Given the description of an element on the screen output the (x, y) to click on. 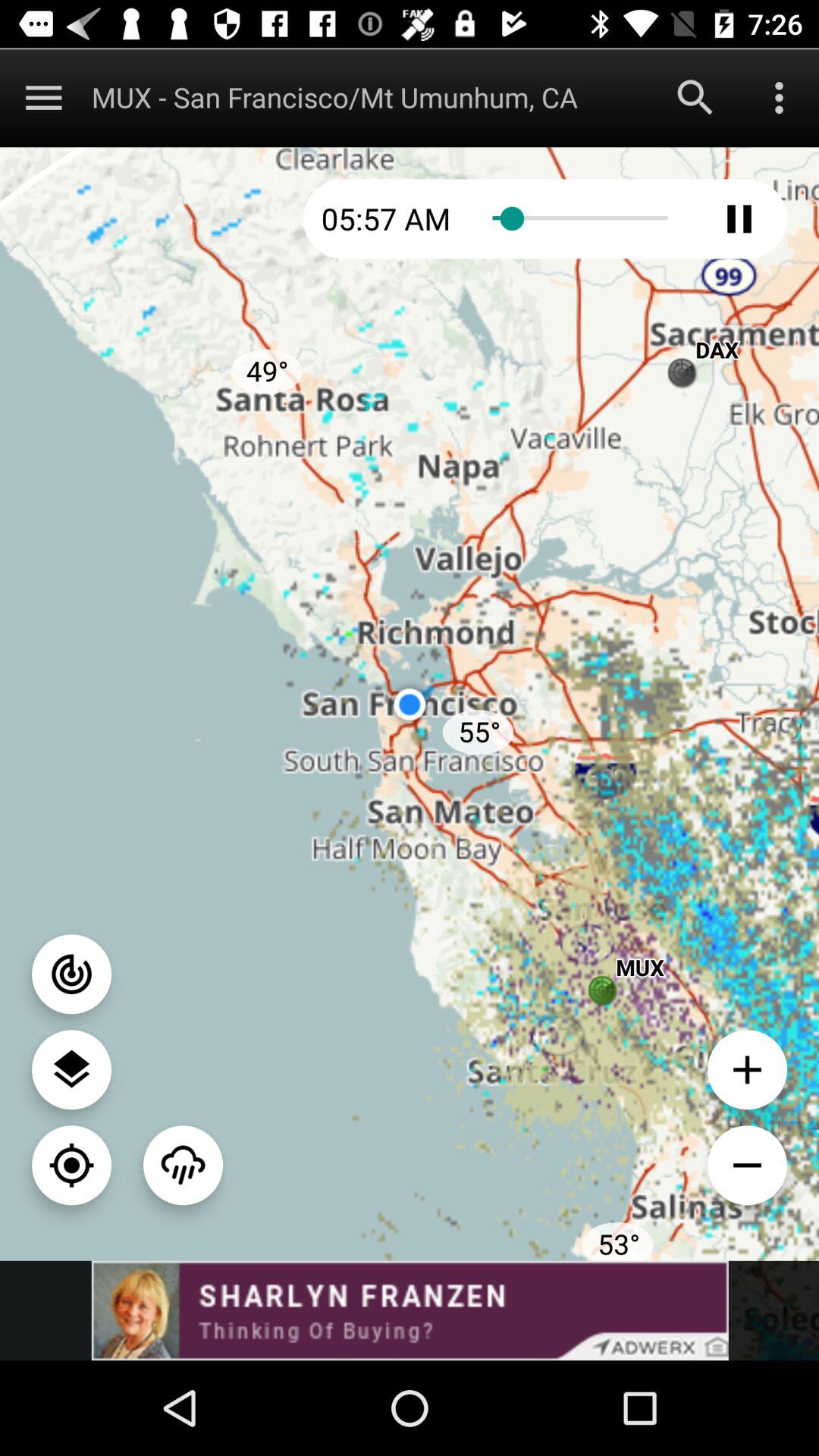
change visible layers (71, 1069)
